Given the description of an element on the screen output the (x, y) to click on. 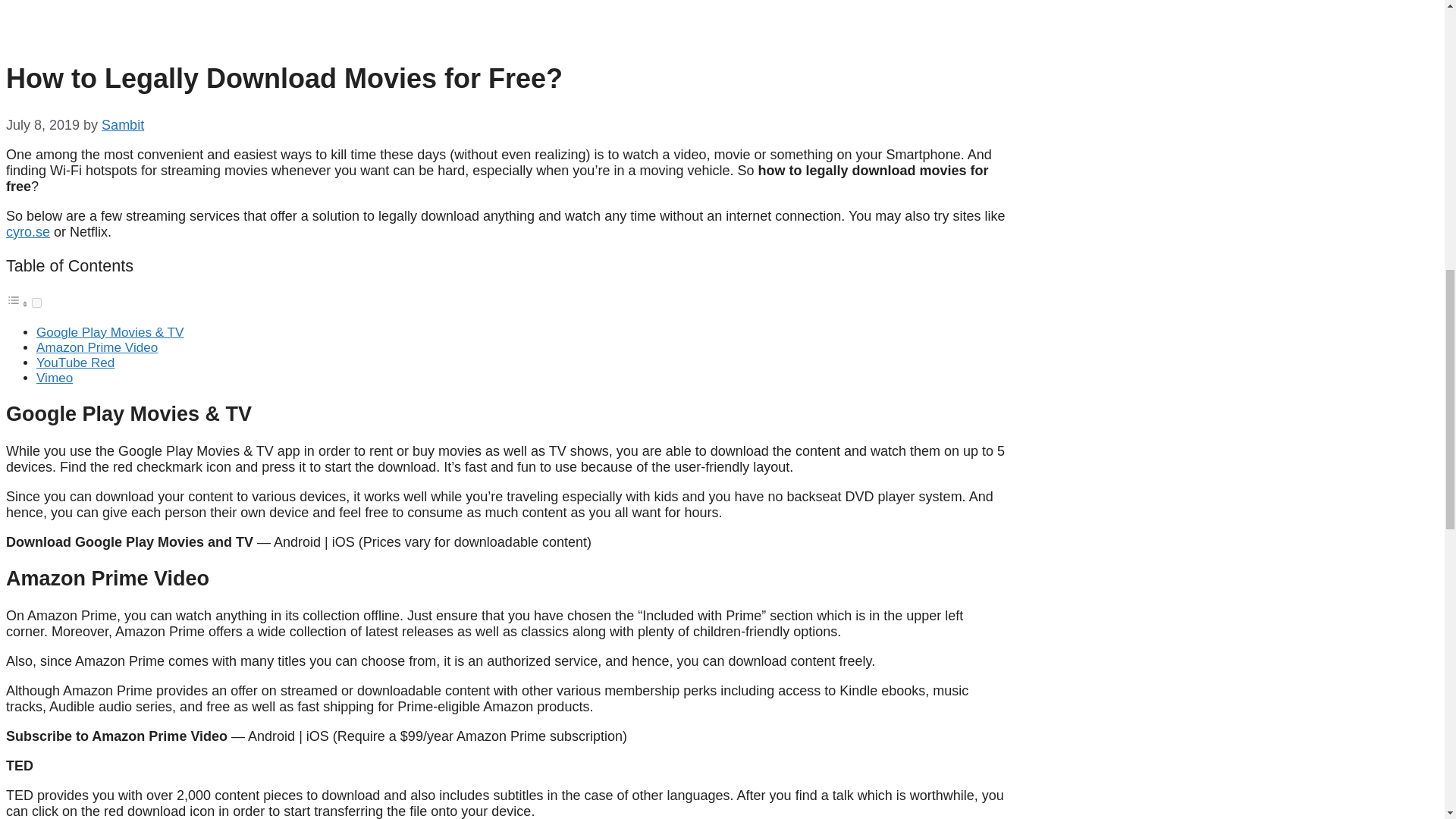
Amazon Prime Video (96, 347)
Amazon Prime Video (96, 347)
cyro.se (27, 231)
Sambit (122, 124)
Vimeo (54, 377)
Vimeo (54, 377)
View all posts by Sambit (122, 124)
YouTube Red (75, 362)
YouTube Red (75, 362)
on (37, 302)
